Given the description of an element on the screen output the (x, y) to click on. 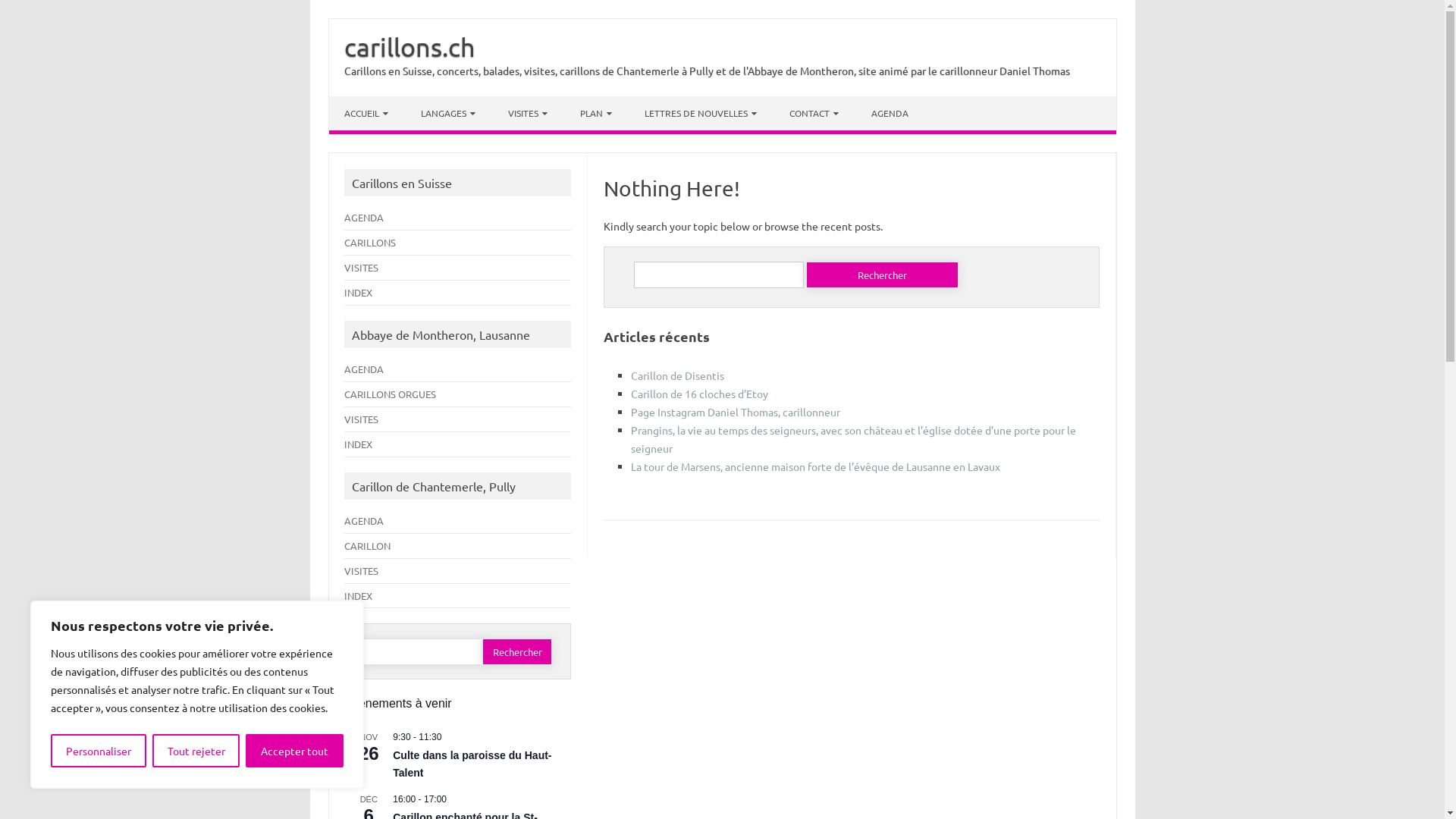
AGENDA Element type: text (890, 113)
VISITES Element type: text (527, 113)
CONTACT Element type: text (813, 113)
Rechercher Element type: text (516, 651)
Carillon de Disentis Element type: text (677, 375)
CARILLON Element type: text (367, 545)
ACCUEIL Element type: text (366, 113)
INDEX Element type: text (358, 291)
LANGAGES Element type: text (446, 113)
LETTRES DE NOUVELLES Element type: text (700, 113)
CARILLONS Element type: text (369, 241)
PLAN Element type: text (595, 113)
carillons.ch Element type: text (409, 46)
Page Instagram Daniel Thomas, carillonneur Element type: text (735, 411)
VISITES Element type: text (361, 570)
Rechercher Element type: text (882, 274)
CARILLONS ORGUES Element type: text (390, 393)
AGENDA Element type: text (363, 216)
AGENDA Element type: text (363, 520)
INDEX Element type: text (358, 443)
VISITES Element type: text (361, 418)
Skip to content Element type: text (365, 101)
Culte dans la paroisse du Haut-Talent Element type: text (471, 764)
Personnaliser Element type: text (98, 750)
INDEX Element type: text (358, 595)
Tout rejeter Element type: text (196, 750)
VISITES Element type: text (361, 266)
Accepter tout Element type: text (294, 750)
AGENDA Element type: text (363, 368)
